Given the description of an element on the screen output the (x, y) to click on. 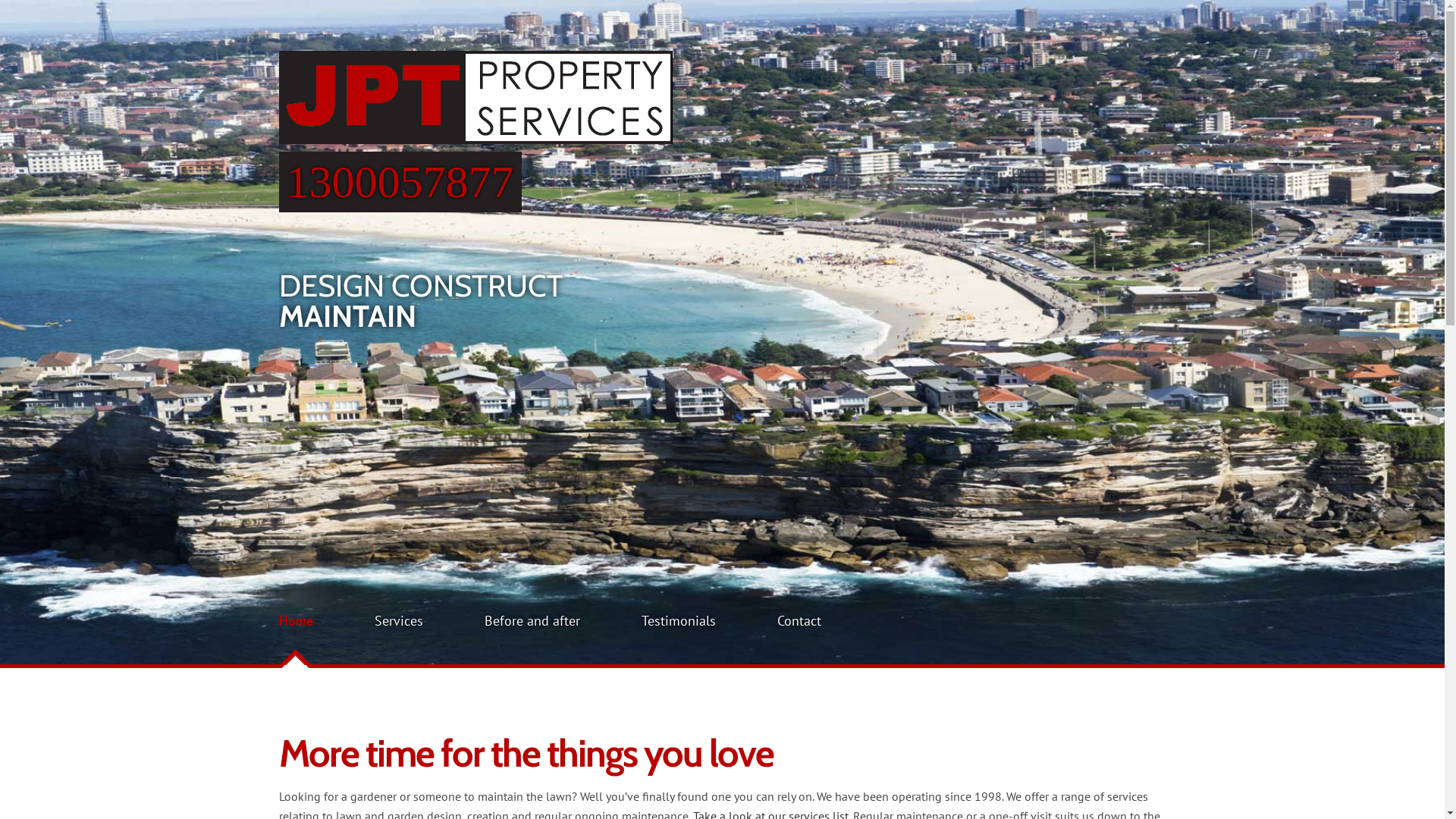
Contact Element type: text (798, 620)
Services Element type: text (398, 620)
Testimonials Element type: text (678, 620)
Home Element type: text (296, 620)
Before and after Element type: text (531, 620)
